Given the description of an element on the screen output the (x, y) to click on. 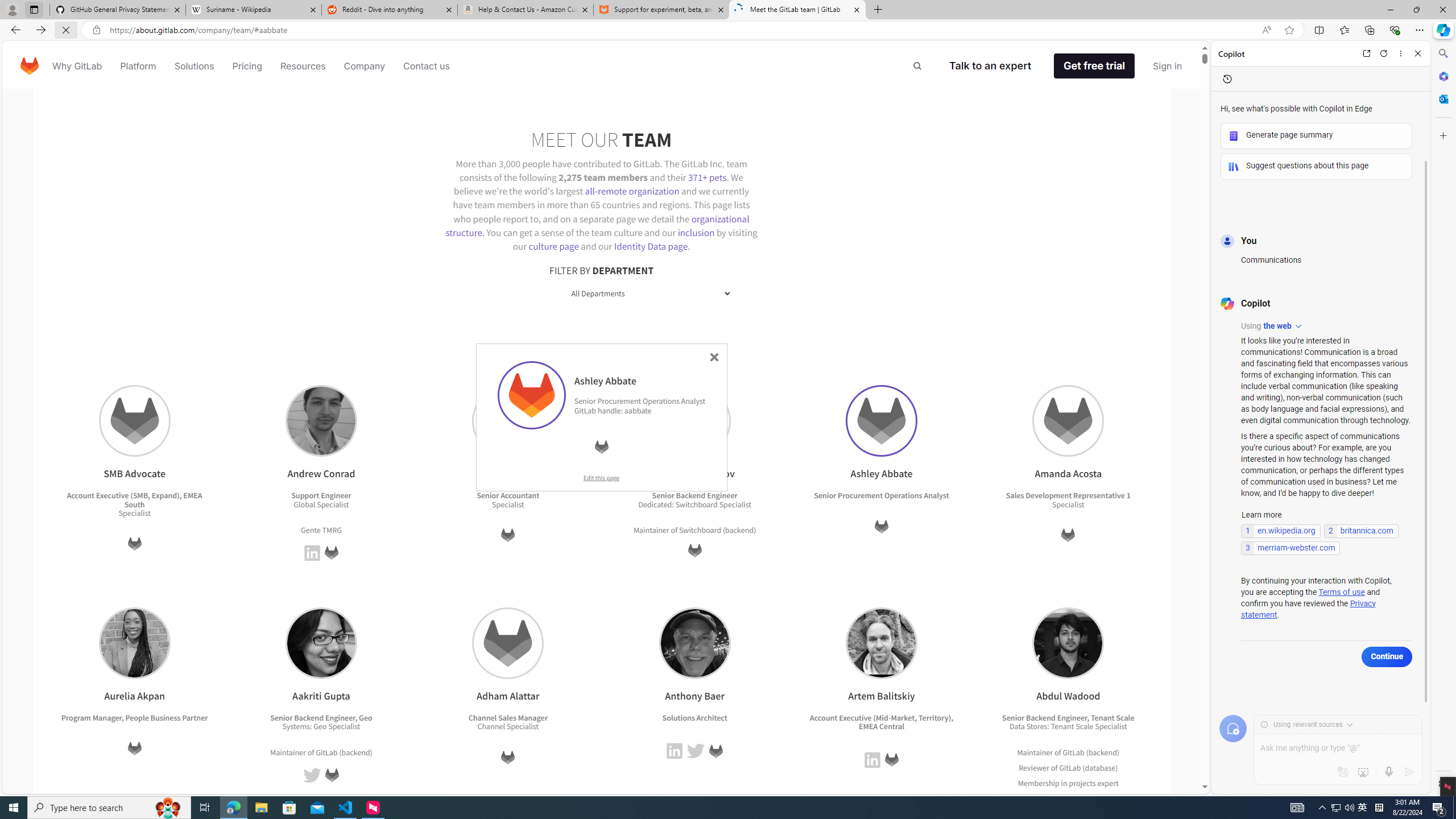
expert (1105, 797)
Membership in projects expert (1067, 782)
Membership in projects (1056, 782)
inclusion (695, 232)
Sign in (1167, 65)
Company (364, 65)
AutomationID: team-selector (601, 293)
Solutions (193, 65)
Support Engineer (320, 495)
Sales Development Representative 1 (1068, 495)
